Given the description of an element on the screen output the (x, y) to click on. 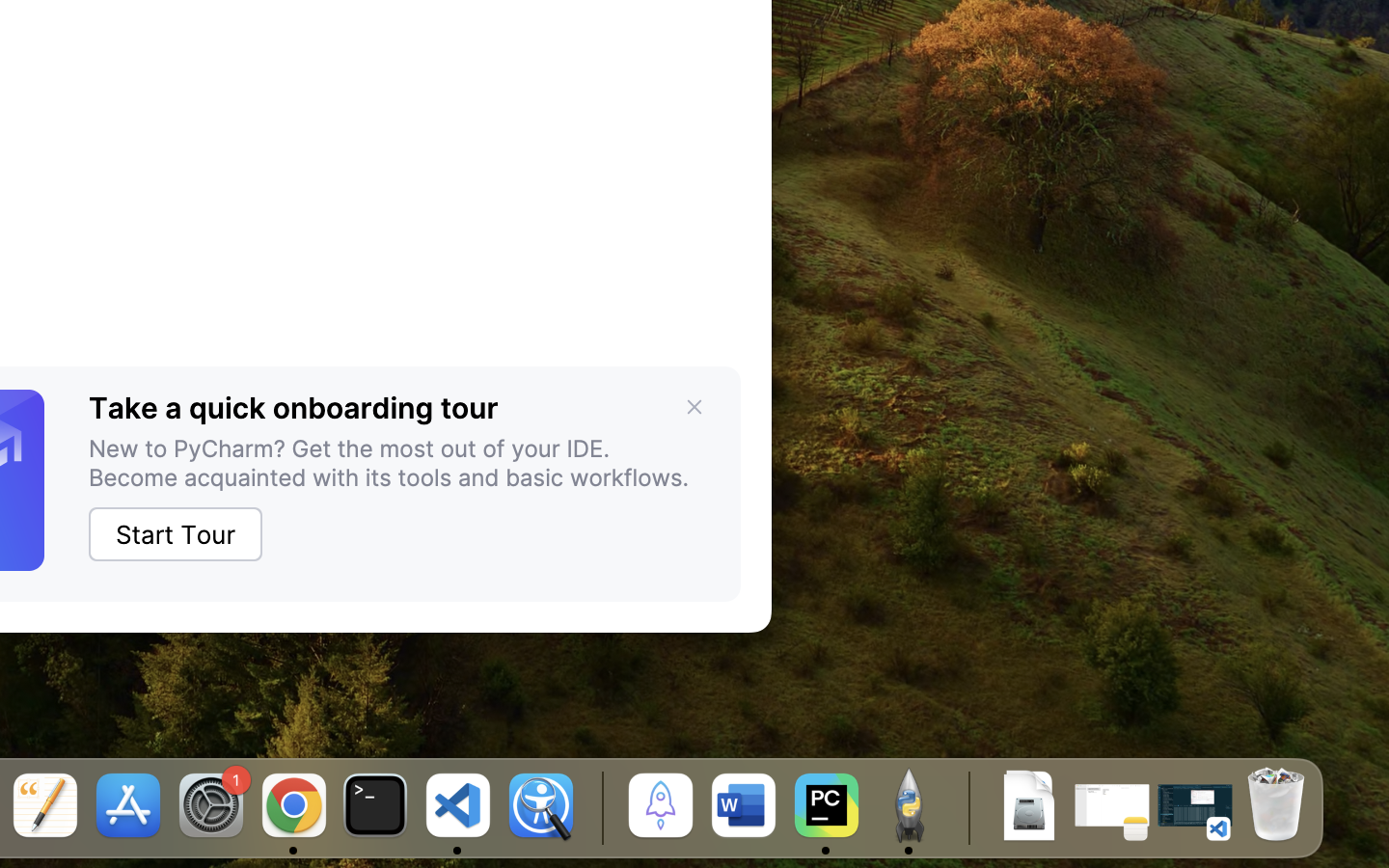
New to PyCharm? Get the most out of your IDE. Become acquainted with its tools and basic workflows. Element type: AXStaticText (398, 462)
Take a quick onboarding tour Element type: AXStaticText (292, 407)
0.4285714328289032 Element type: AXDockItem (598, 807)
